Given the description of an element on the screen output the (x, y) to click on. 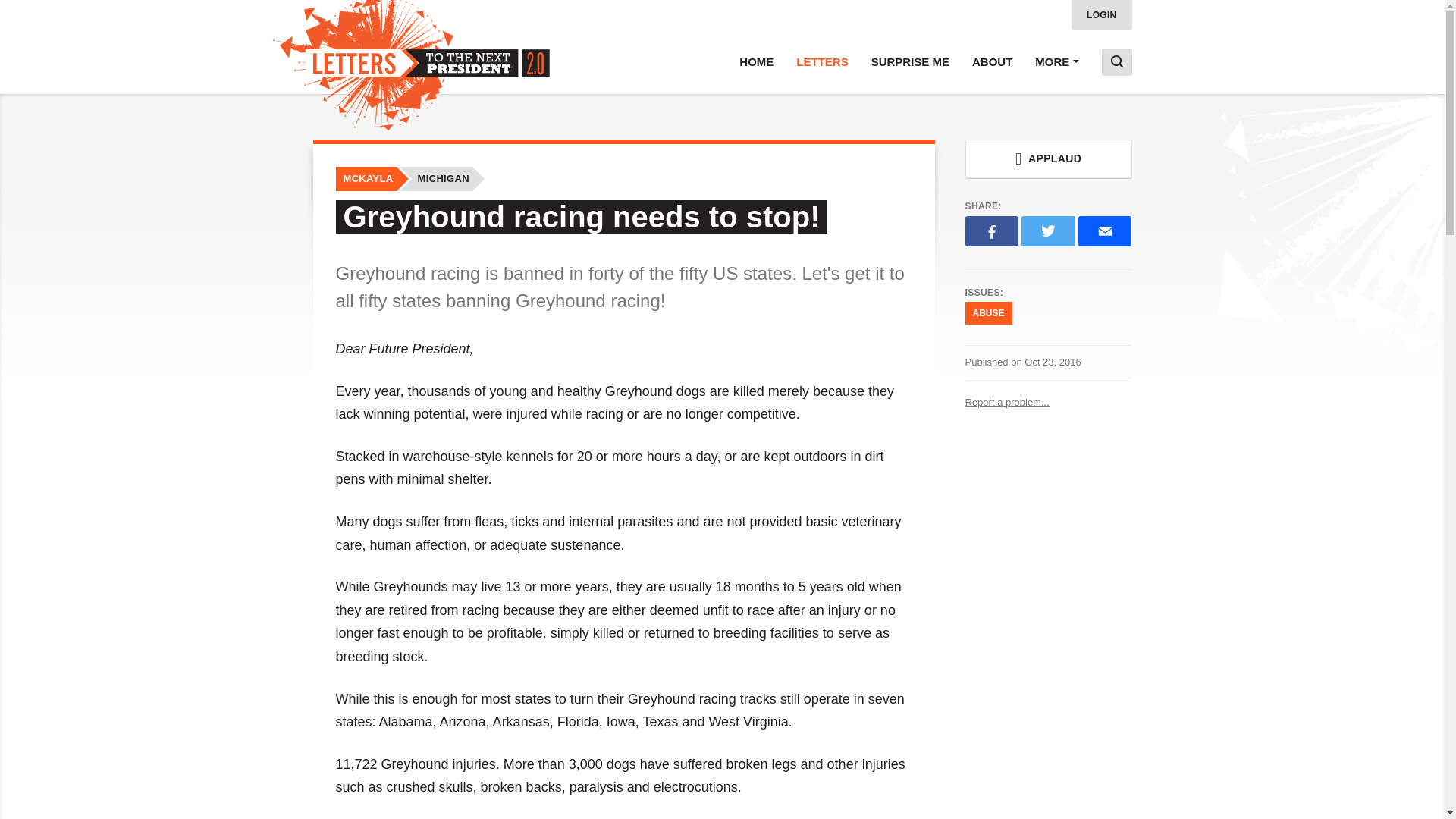
SURPRISE ME (910, 62)
ABUSE (987, 313)
LETTERS (821, 62)
HOME (756, 62)
Report a problem... (1047, 402)
ABOUT (991, 62)
LOGIN (1101, 15)
